Given the description of an element on the screen output the (x, y) to click on. 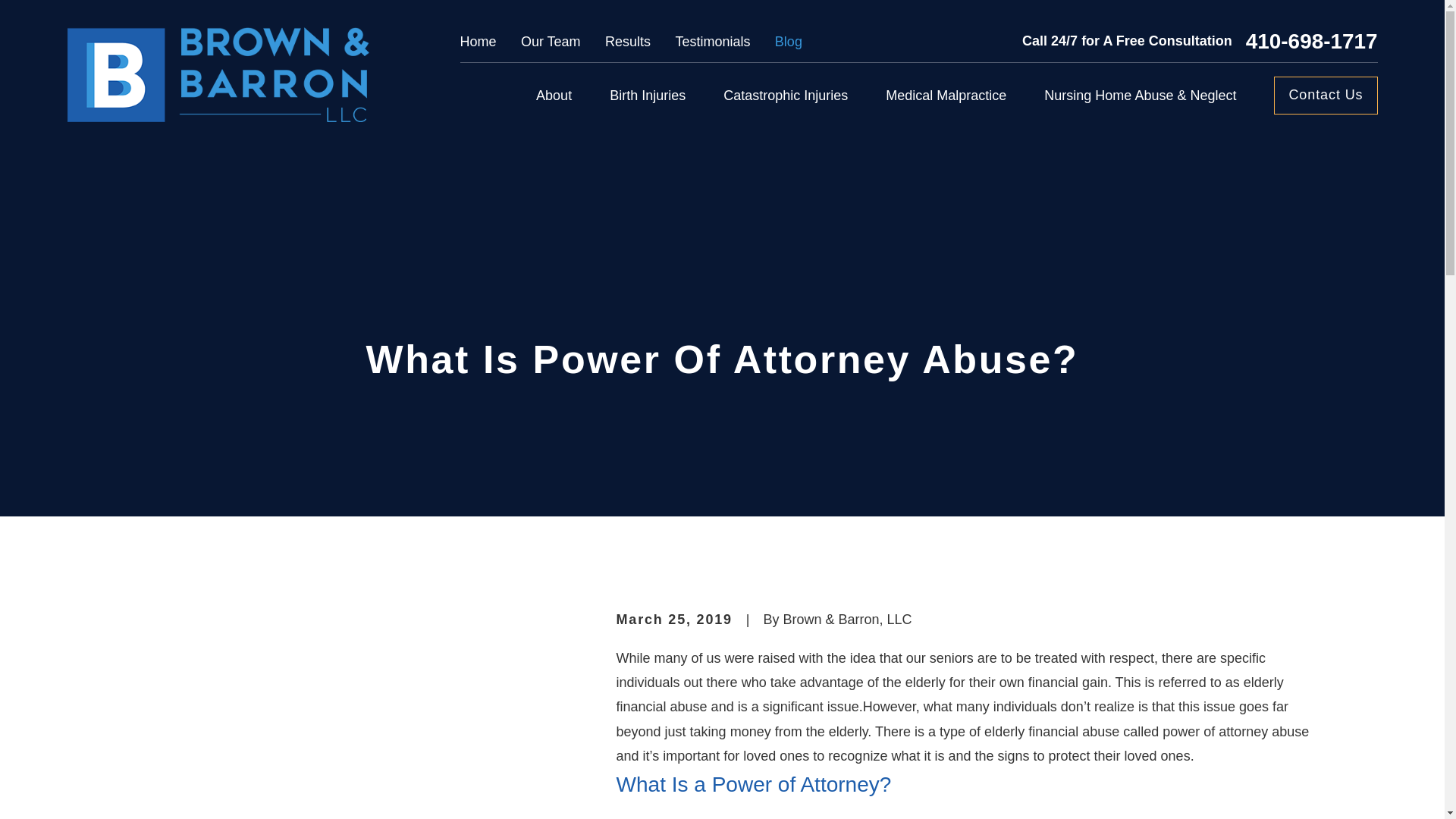
Catastrophic Injuries (785, 95)
Blog (788, 41)
Results (627, 41)
About (553, 95)
Our Team (550, 41)
Home (478, 41)
Birth Injuries (647, 95)
410-698-1717 (1311, 41)
Testimonials (712, 41)
Home (217, 74)
